Given the description of an element on the screen output the (x, y) to click on. 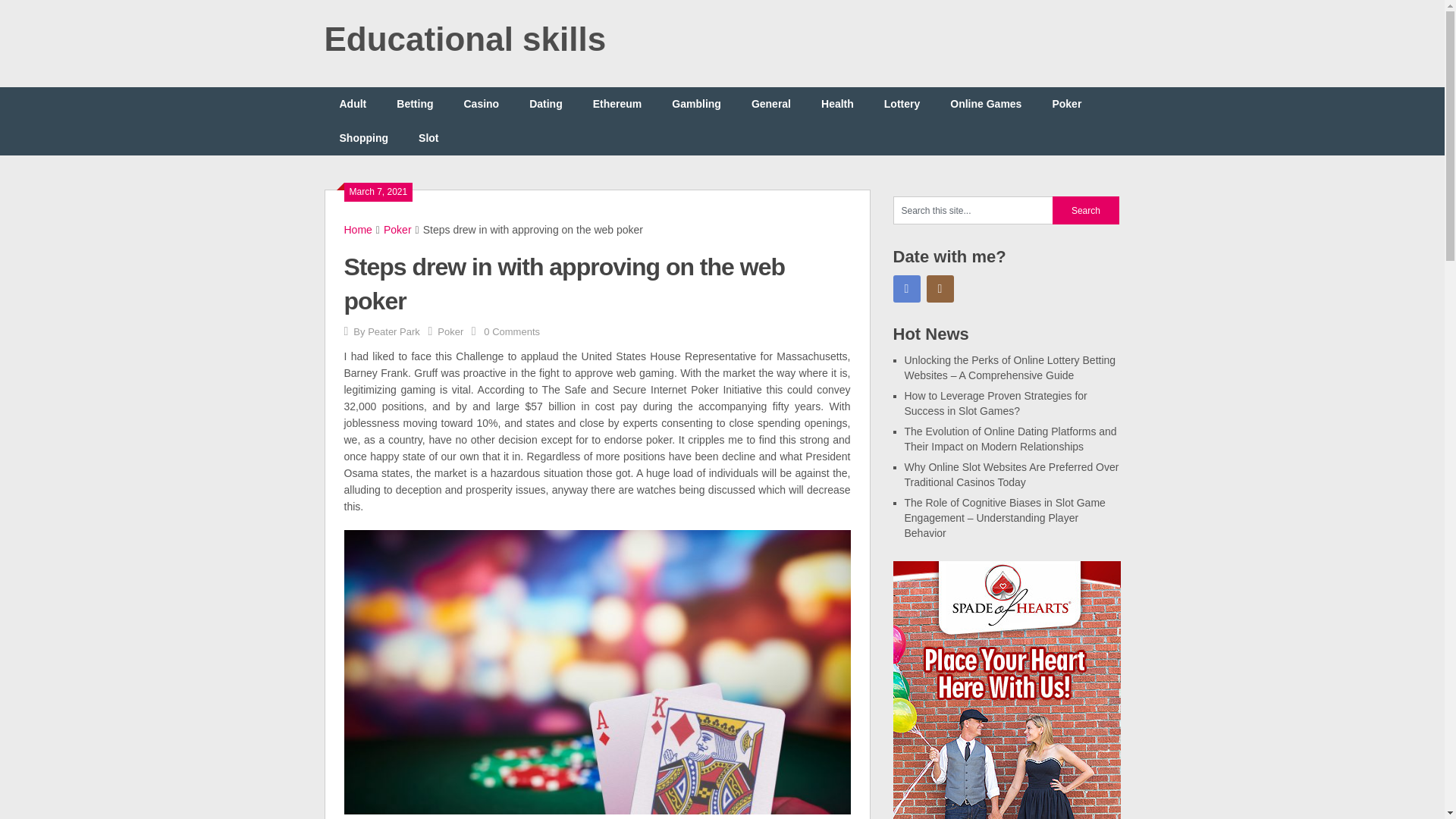
Adult (352, 103)
Peater Park (394, 331)
How to Leverage Proven Strategies for Success in Slot Games? (995, 367)
Shopping (364, 138)
Educational skills (465, 38)
Facebook (906, 288)
Betting (414, 103)
0 Comments (511, 331)
Search (1085, 210)
Home (357, 229)
General (771, 103)
Search this site... (972, 210)
Search (1085, 210)
